Given the description of an element on the screen output the (x, y) to click on. 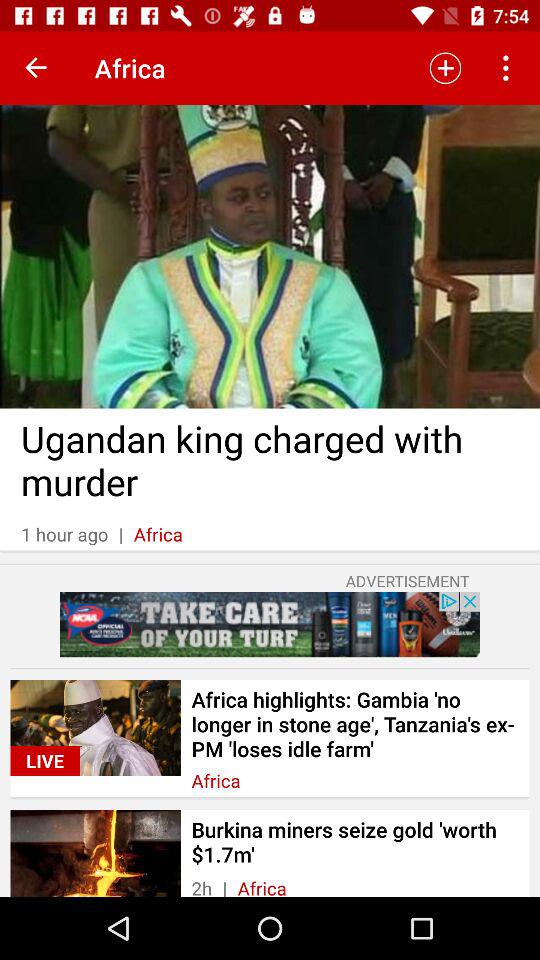
previous the page (36, 68)
